Given the description of an element on the screen output the (x, y) to click on. 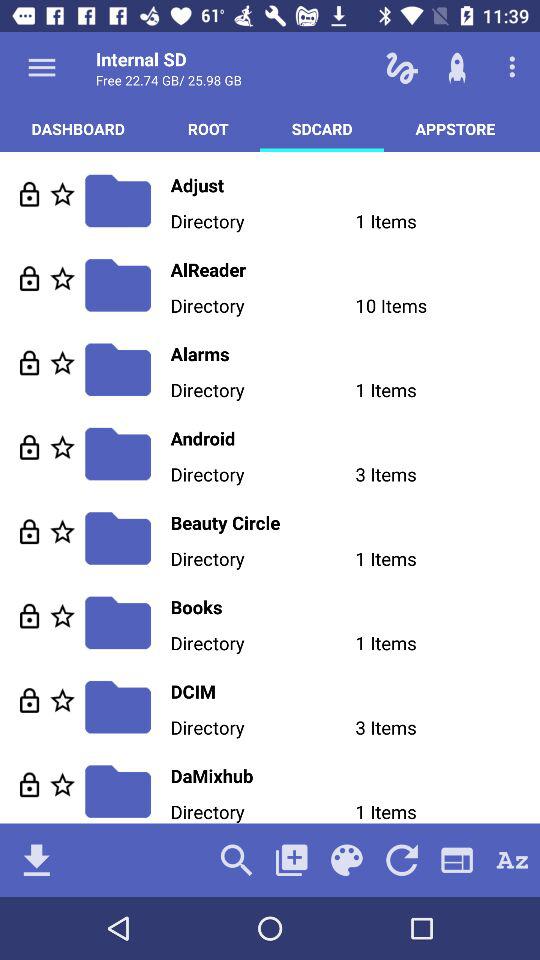
visit the item (29, 700)
